Given the description of an element on the screen output the (x, y) to click on. 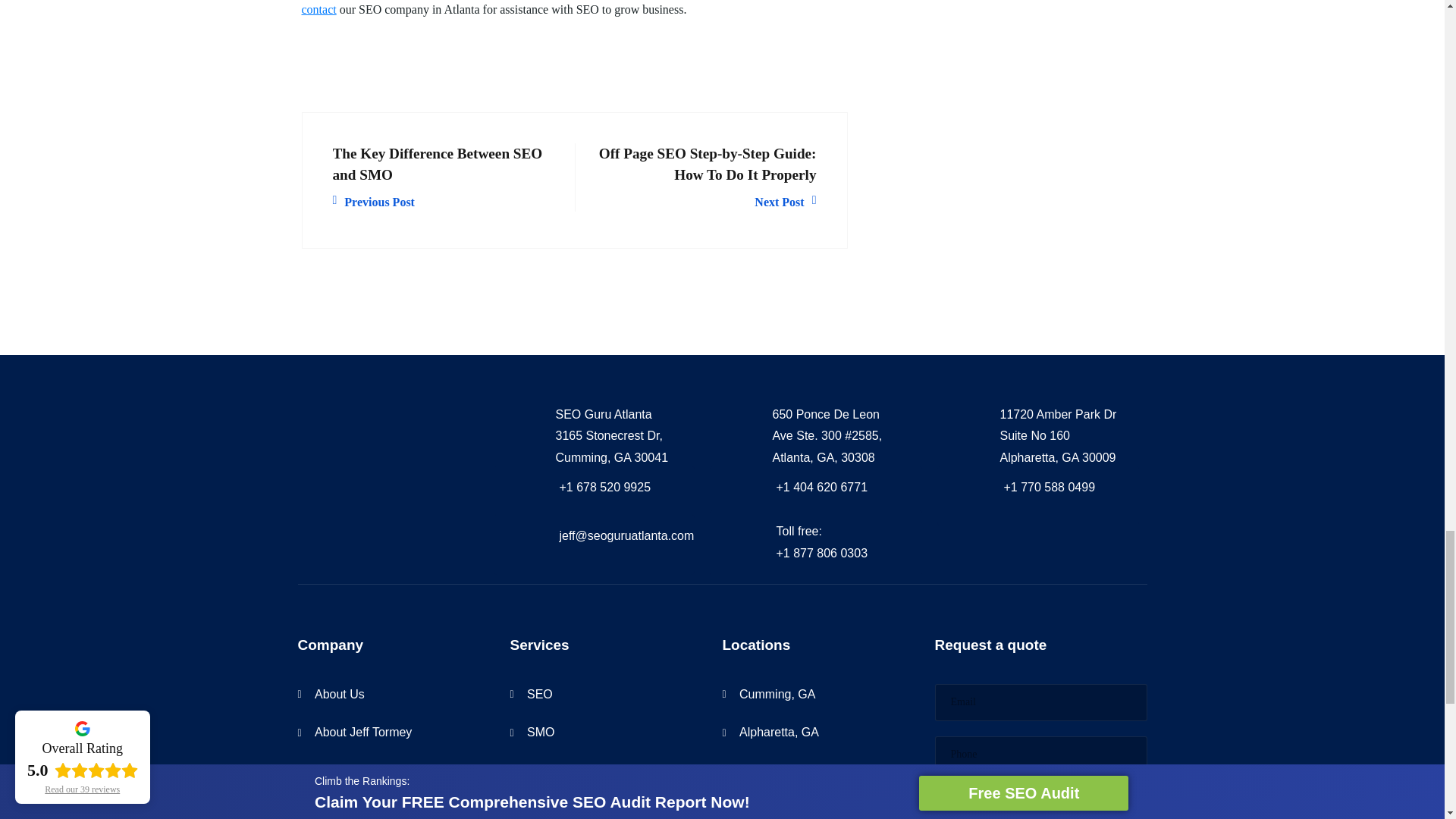
Contact Us (318, 9)
